Given the description of an element on the screen output the (x, y) to click on. 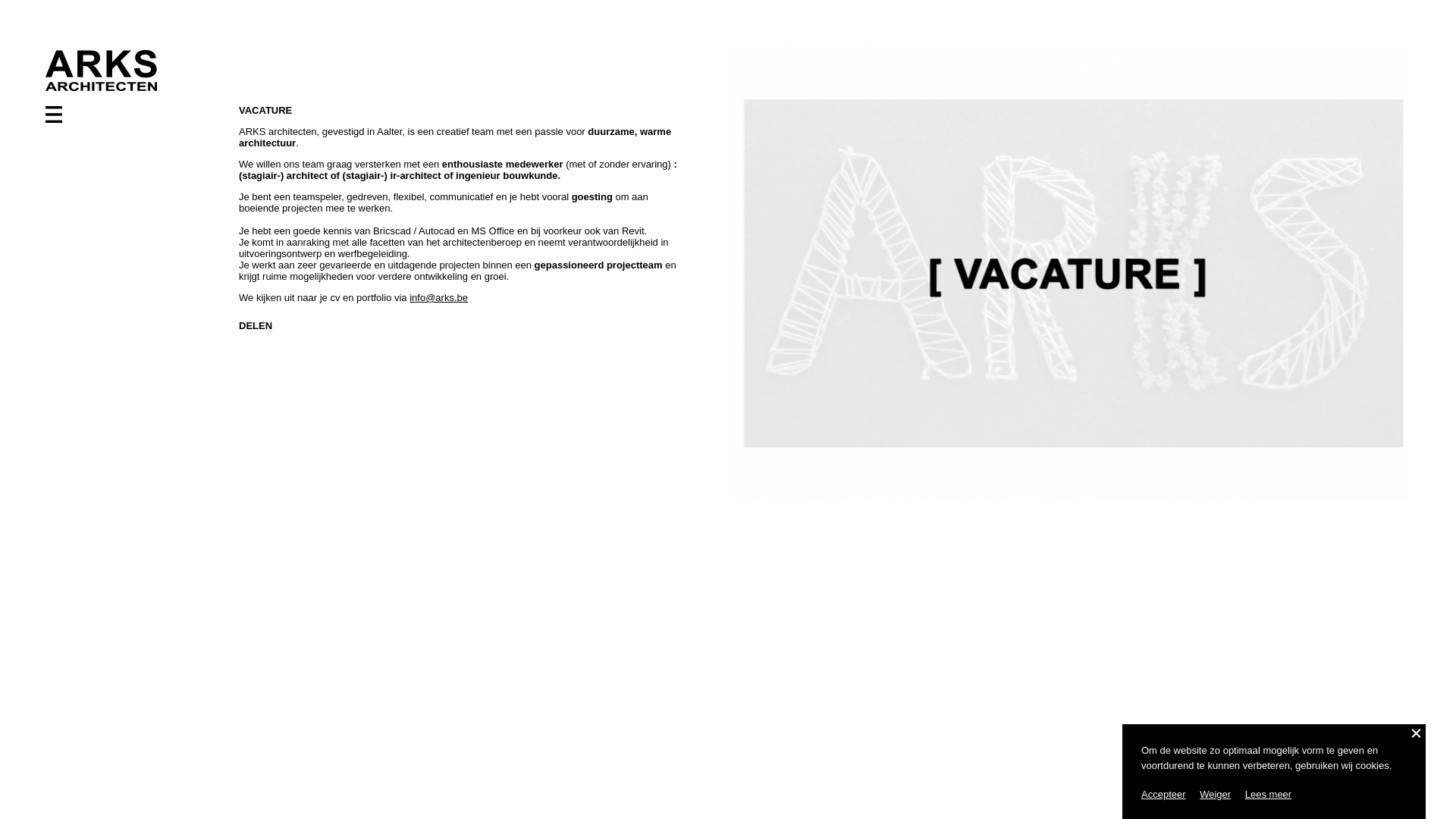
info@arks.be Element type: text (438, 297)
Accepteer Element type: text (1163, 794)
Lees meer Element type: text (1268, 794)
Weiger Element type: text (1214, 794)
